Given the description of an element on the screen output the (x, y) to click on. 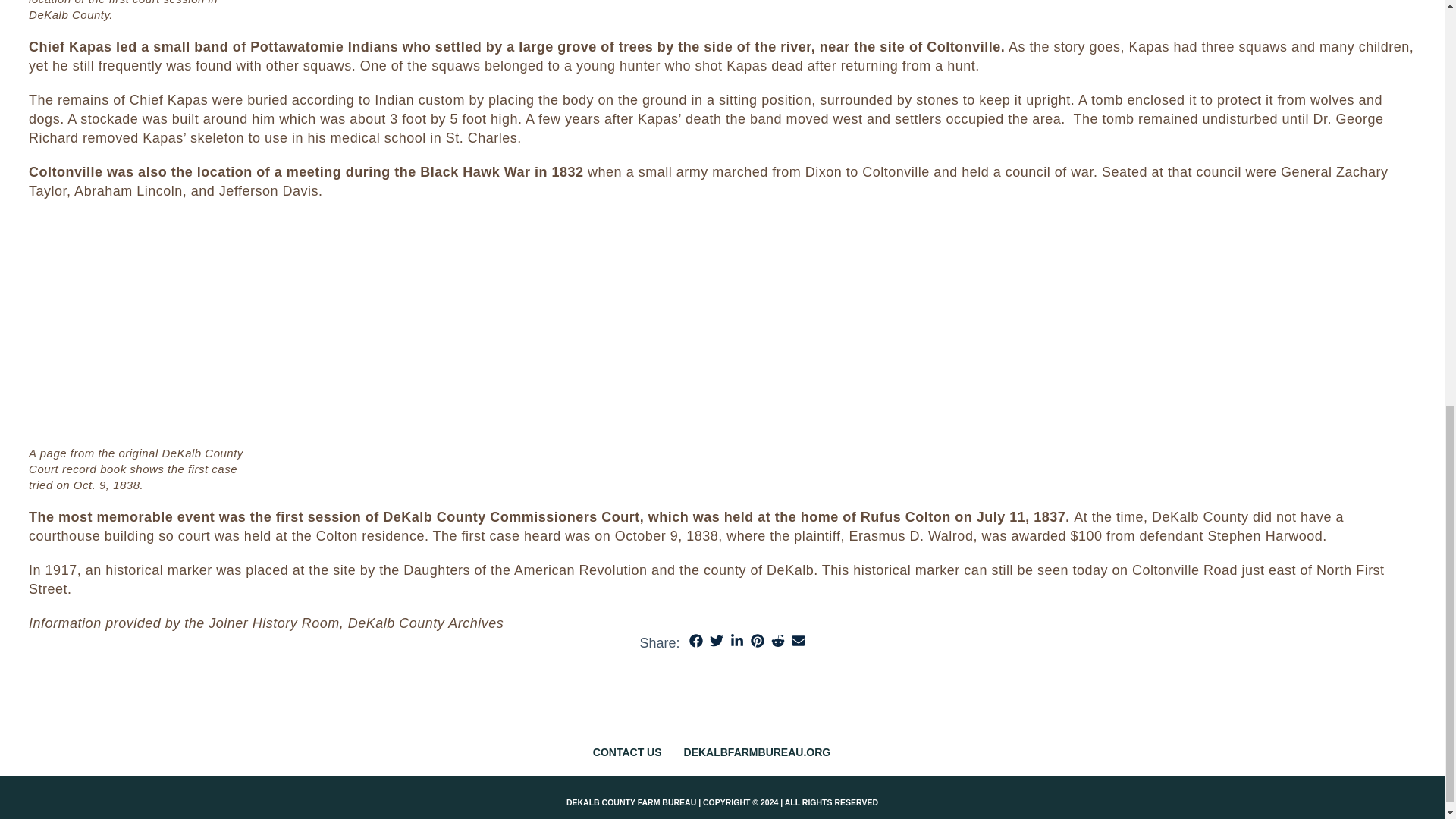
DEKALBFARMBUREAU.ORG (762, 752)
CONTACT US (632, 752)
